Given the description of an element on the screen output the (x, y) to click on. 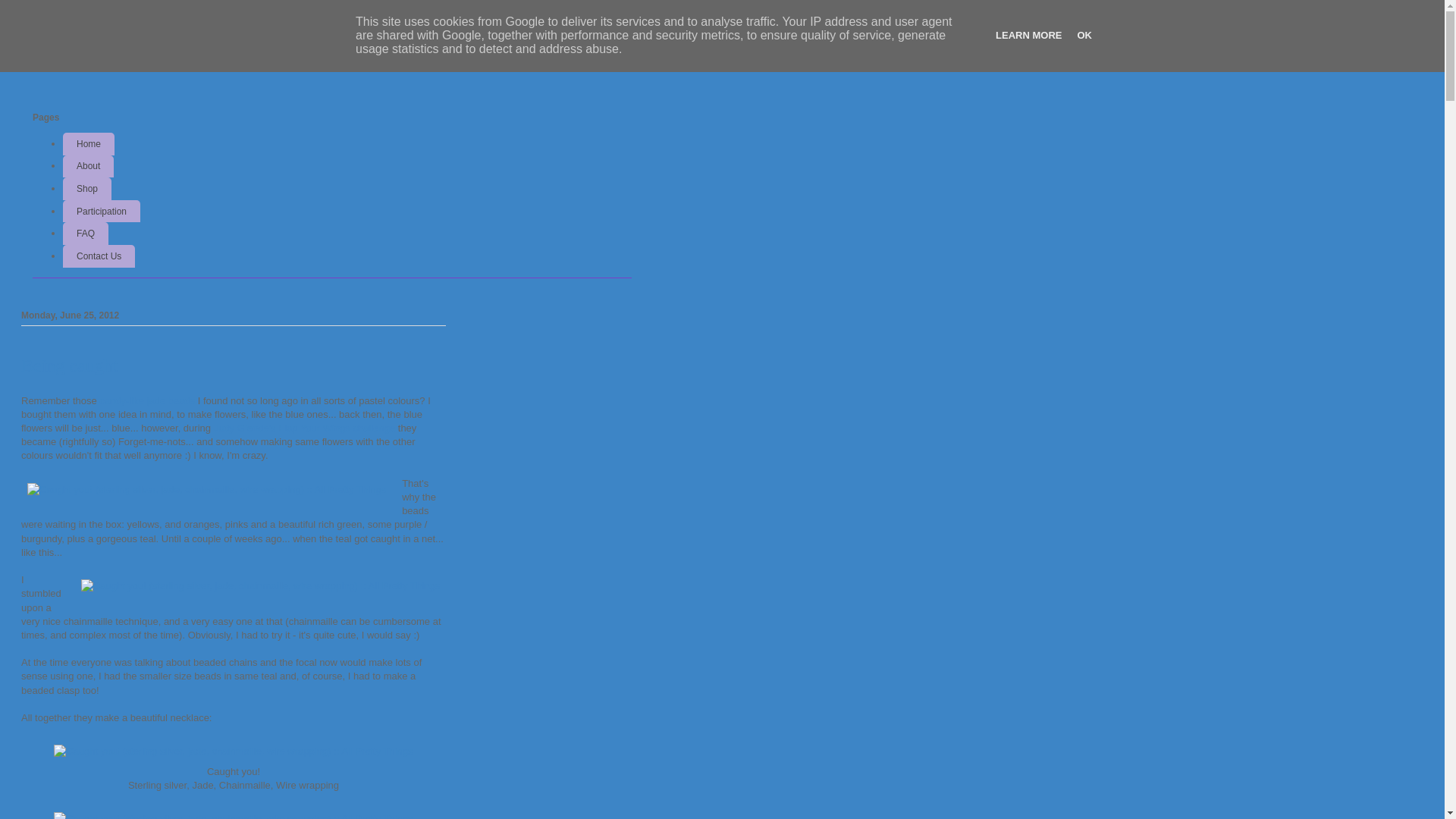
Shop Element type: text (86, 188)
FAQ Element type: text (85, 233)
About Element type: text (87, 166)
OK Element type: text (1084, 34)
Home Element type: text (88, 143)
Participation Element type: text (101, 211)
Contact Us Element type: text (98, 255)
Judy Glende's Flap Your Wings challenge Element type: text (304, 427)
LEARN MORE Element type: text (1028, 34)
candy-like jade beads Element type: text (146, 400)
